Given the description of an element on the screen output the (x, y) to click on. 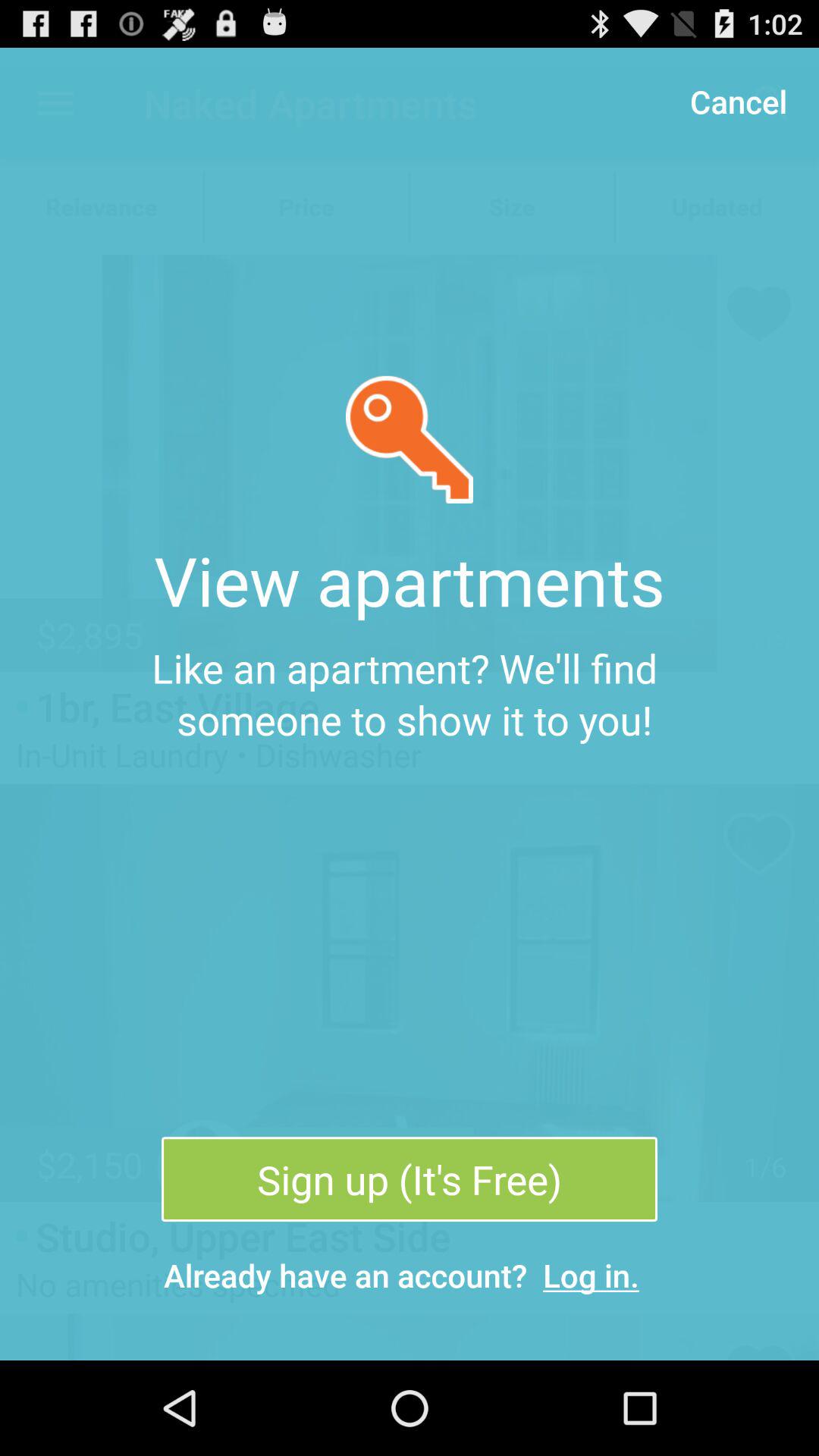
turn on item to the right of the already have an item (591, 1274)
